Given the description of an element on the screen output the (x, y) to click on. 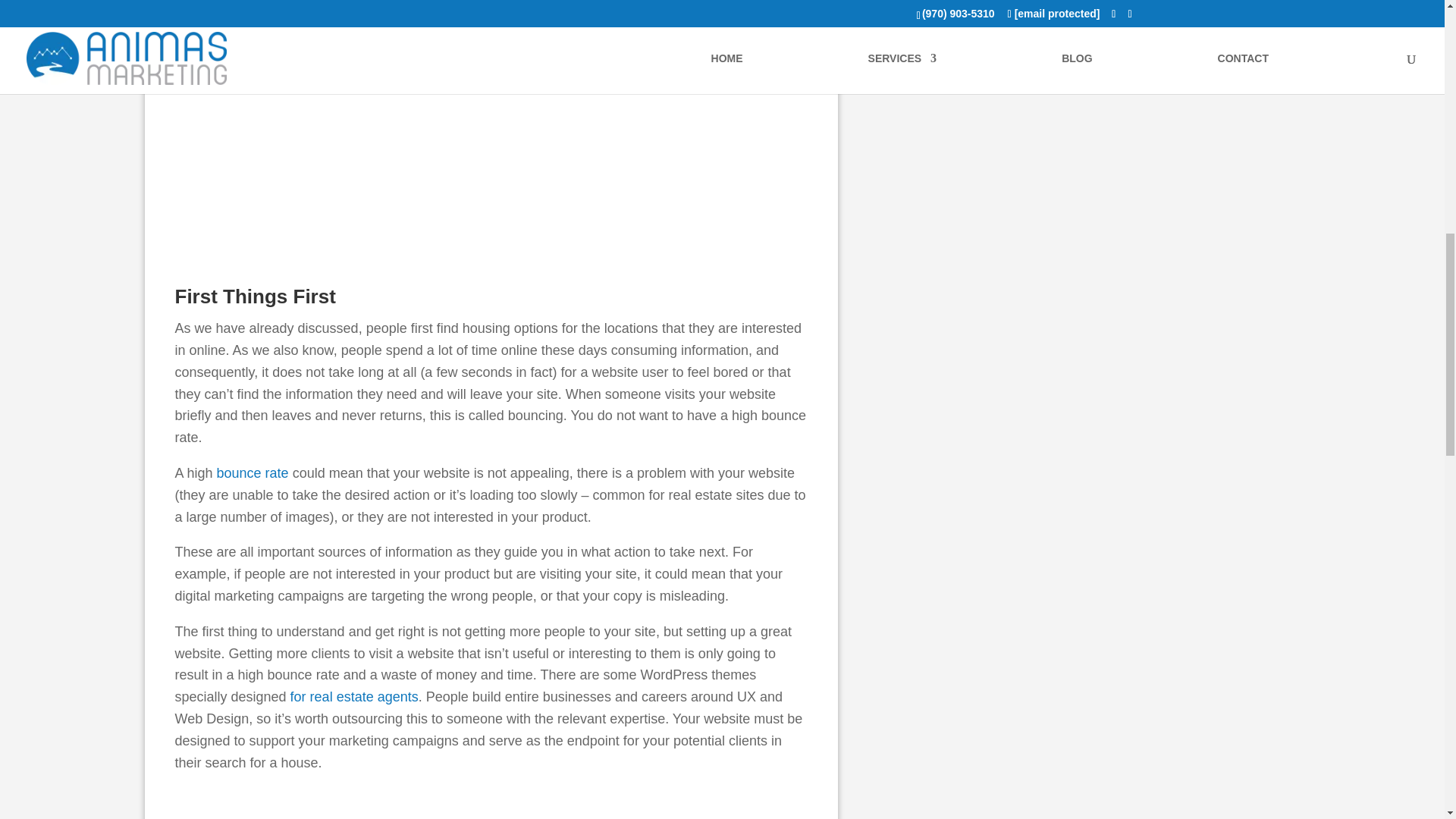
for real estate agents (354, 696)
bounce rate (252, 473)
